Given the description of an element on the screen output the (x, y) to click on. 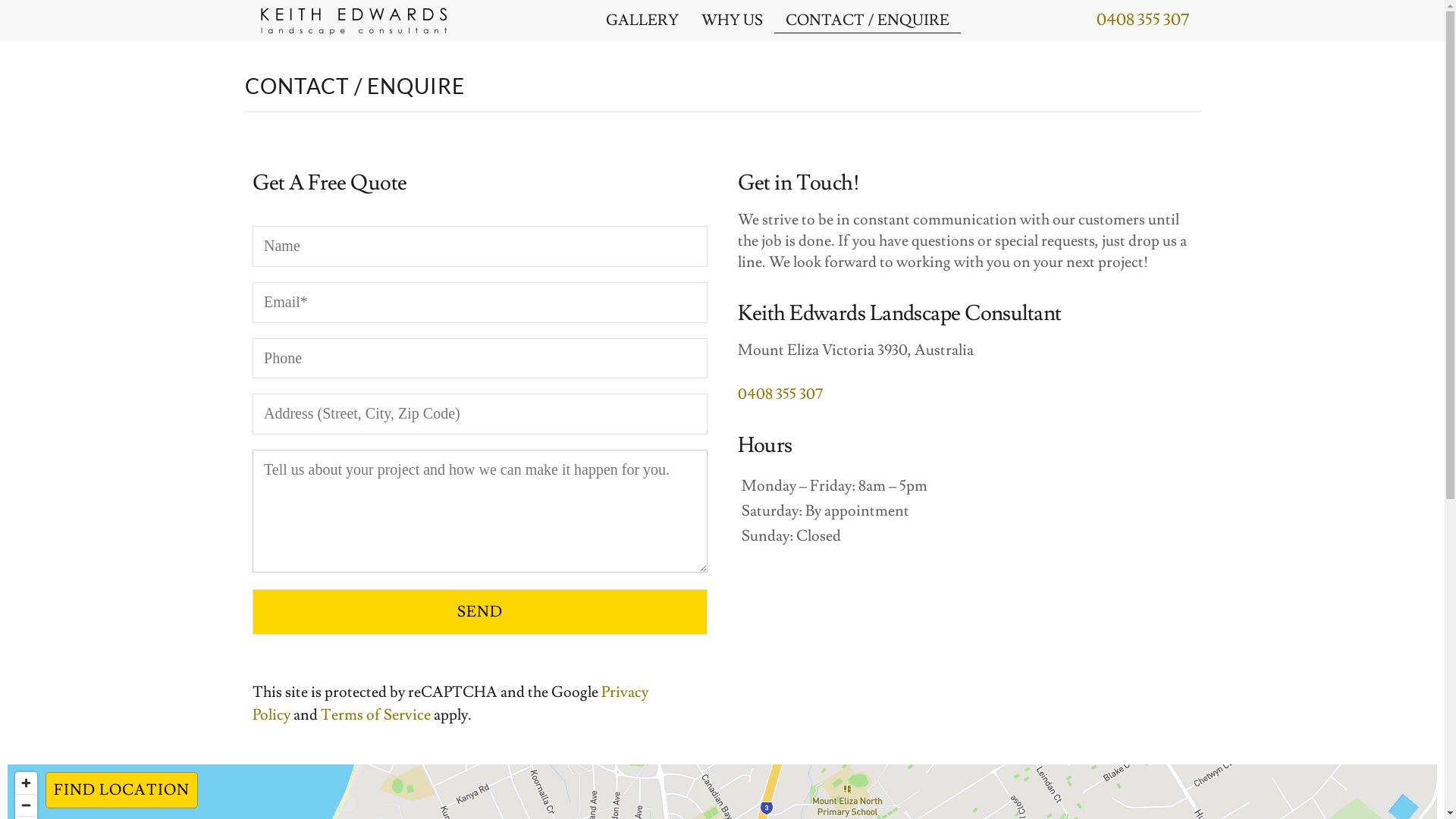
GALLERY Element type: text (642, 20)
Terms of Service Element type: text (374, 714)
Send Element type: text (478, 611)
CONTACT / ENQUIRE Element type: text (867, 20)
WHY US Element type: text (732, 20)
FIND LOCATION Element type: text (121, 789)
Keith Edwards Element type: hover (352, 20)
0408 355 307 Element type: text (779, 394)
Zoom out Element type: hover (26, 804)
Privacy  Policy Element type: text (450, 703)
0408 355 307 Element type: text (1142, 20)
Zoom in Element type: hover (26, 782)
